Given the description of an element on the screen output the (x, y) to click on. 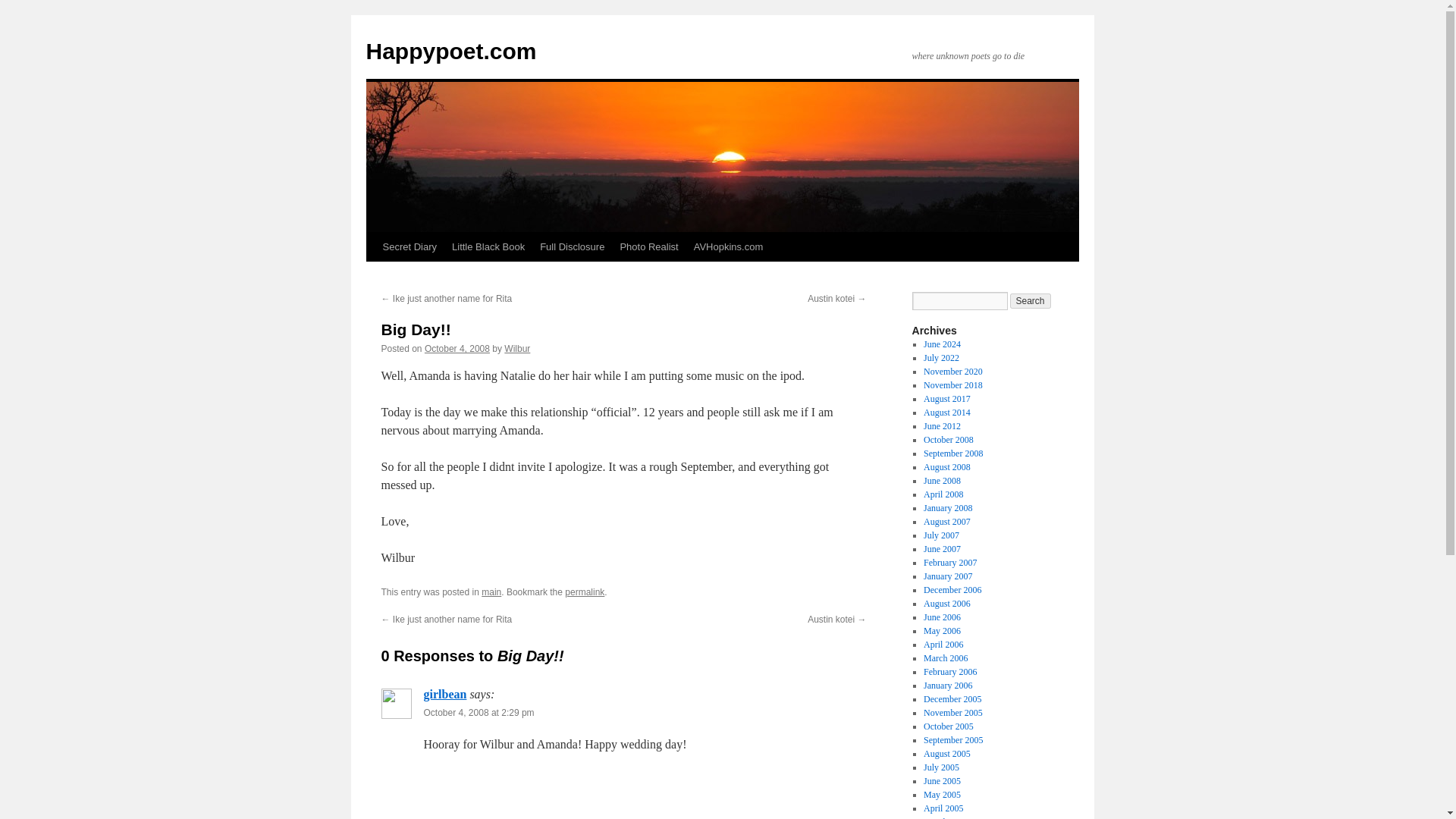
Little Black Book (488, 246)
Happypoet.com (450, 50)
August 2017 (947, 398)
January 2007 (947, 575)
January 2008 (947, 507)
October 4, 2008 (457, 348)
July 2007 (941, 534)
September 2008 (952, 452)
12:37 pm (457, 348)
June 2007 (941, 548)
